Given the description of an element on the screen output the (x, y) to click on. 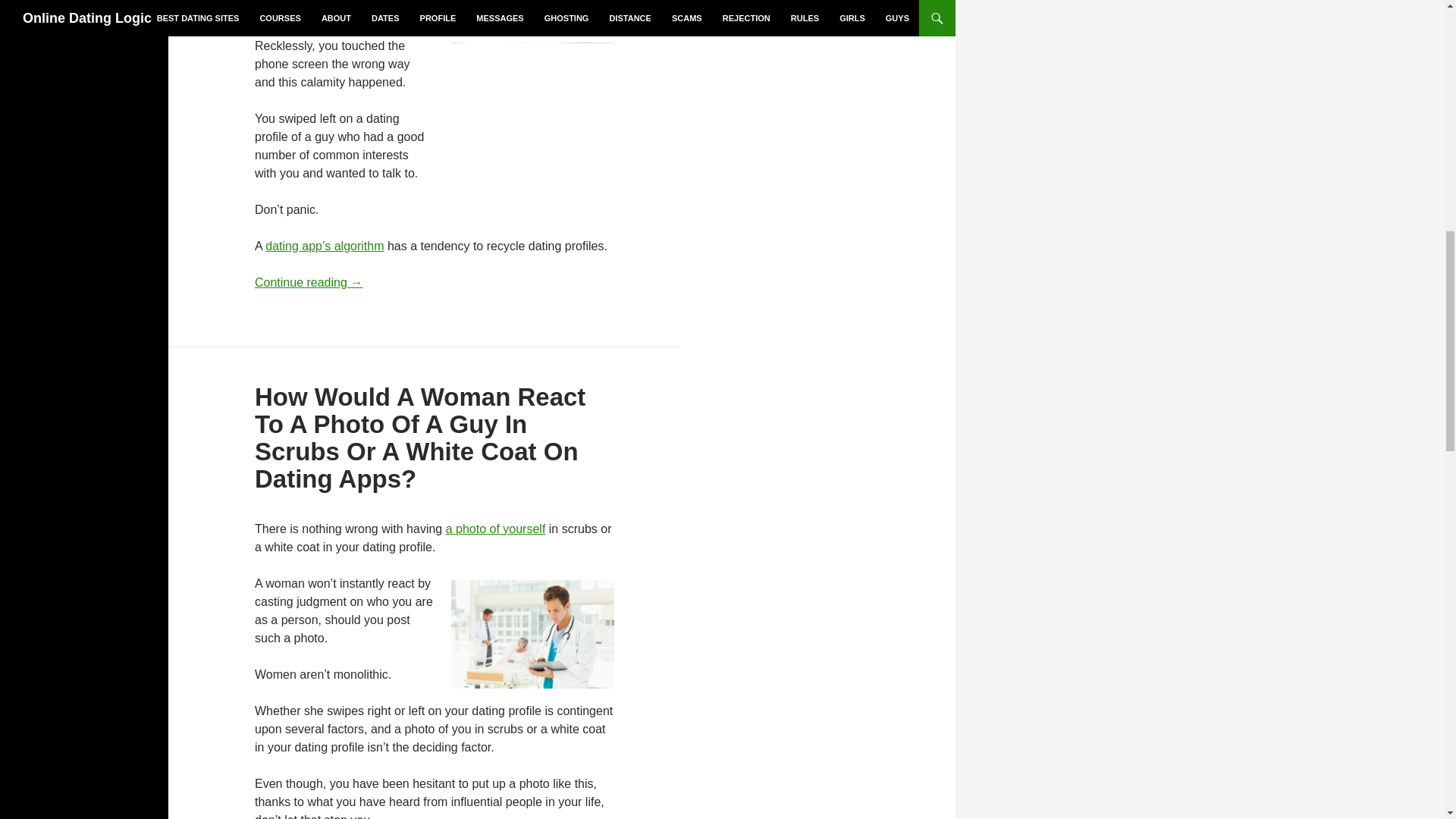
a photo of yourself (495, 528)
